Given the description of an element on the screen output the (x, y) to click on. 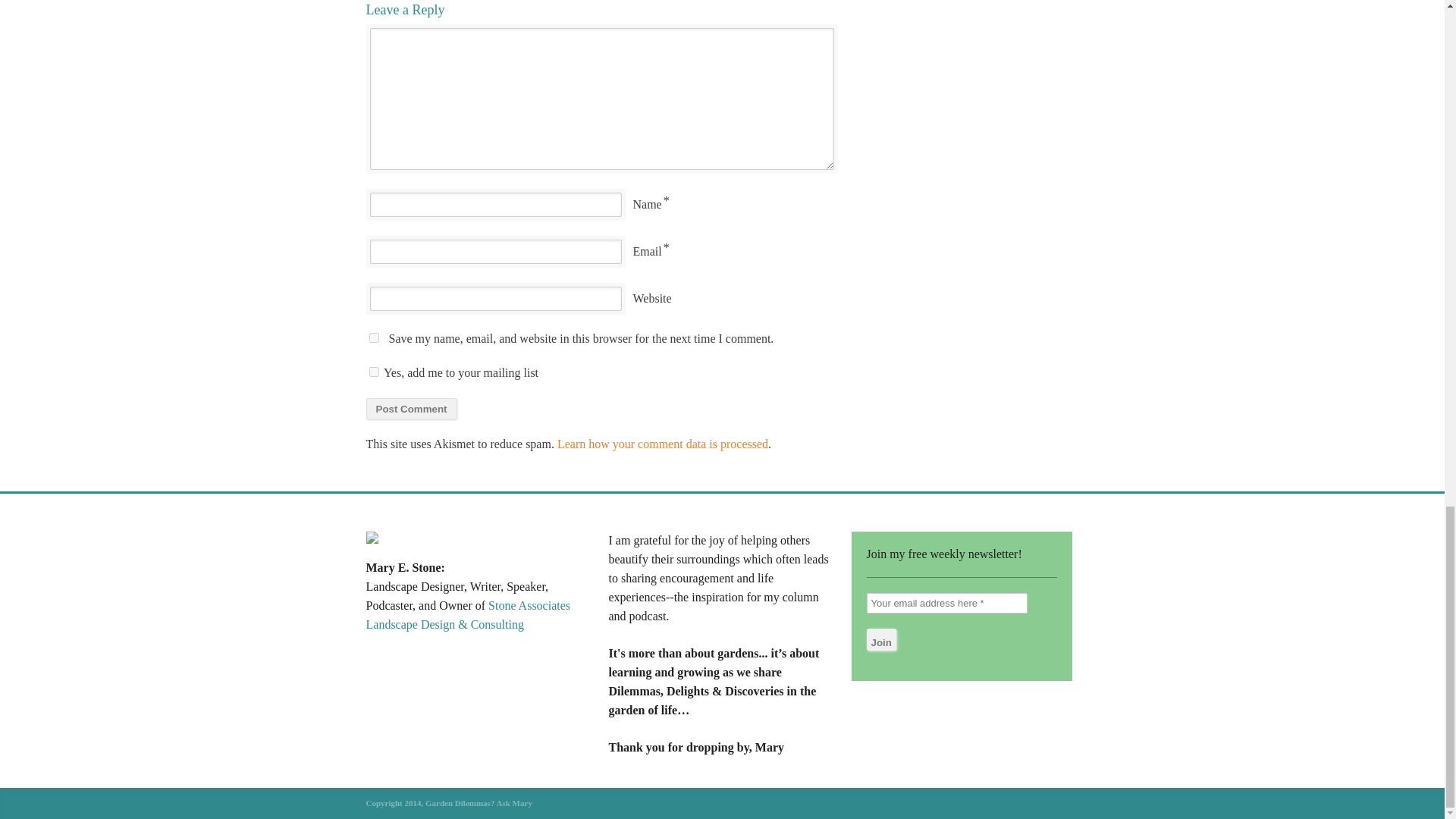
Learn how your comment data is processed (662, 443)
Your email address here (946, 602)
Join (880, 639)
Join (880, 639)
Post Comment (411, 409)
Post Comment (411, 409)
yes (373, 337)
1 (373, 371)
